Given the description of an element on the screen output the (x, y) to click on. 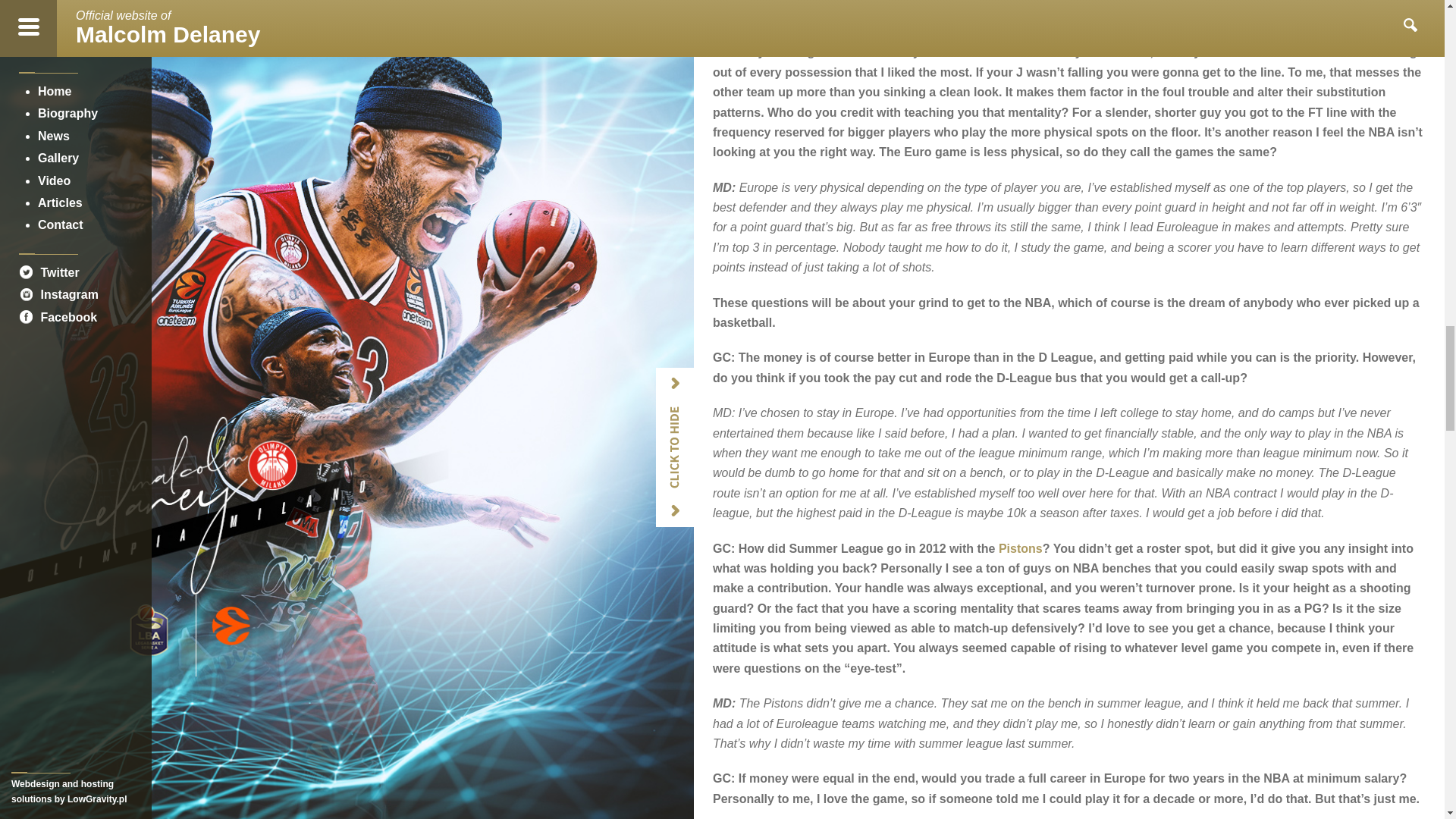
Pistons (1020, 548)
